Given the description of an element on the screen output the (x, y) to click on. 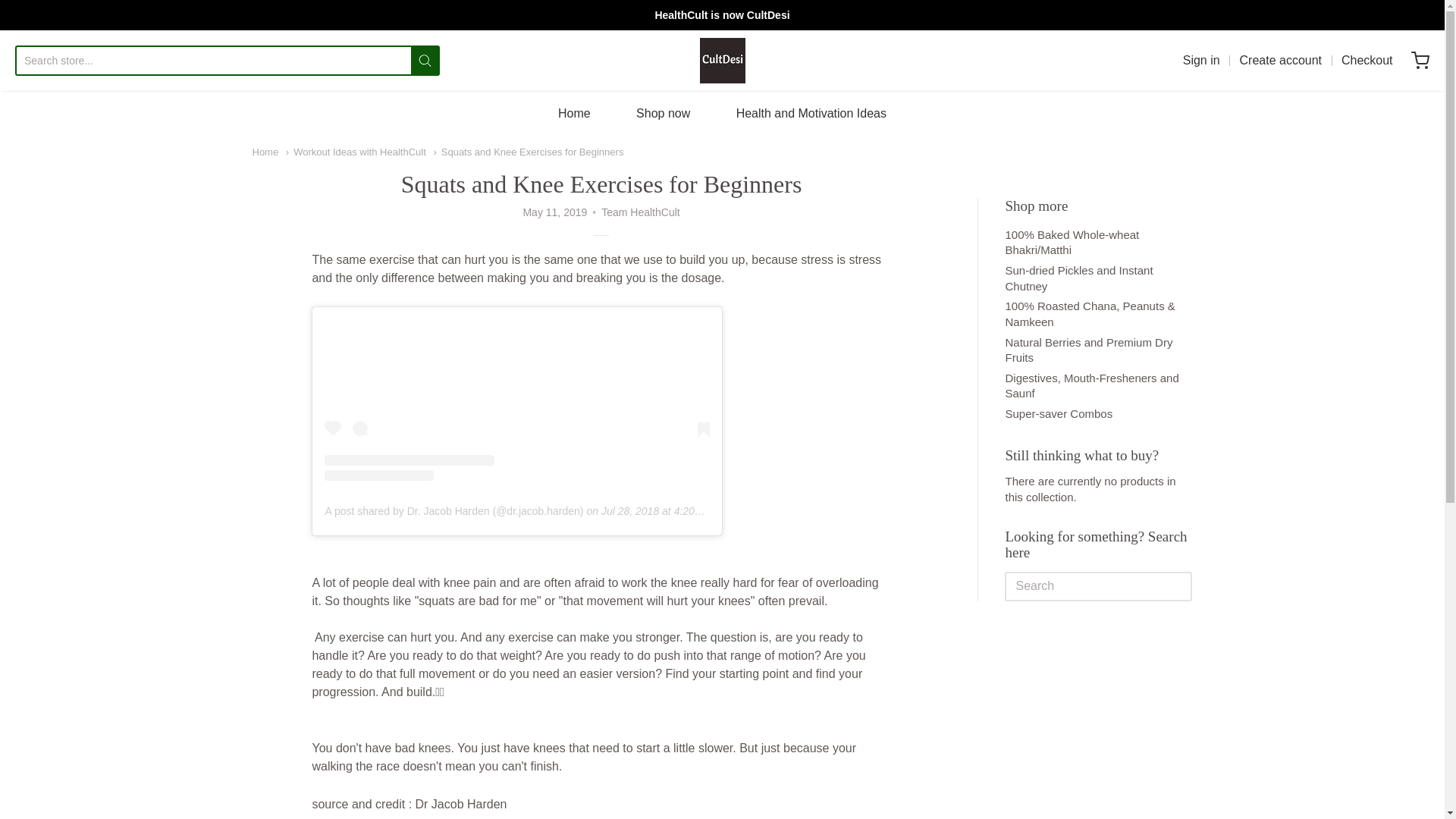
Sign in (1201, 60)
Home (574, 113)
Workout Ideas with HealthCult (355, 152)
CultDesi (721, 60)
Create account (1281, 60)
Squats and Knee Exercises for Beginners (527, 152)
Home (264, 152)
Health and Motivation Ideas (811, 113)
Checkout (1366, 60)
Shop now (663, 113)
